Given the description of an element on the screen output the (x, y) to click on. 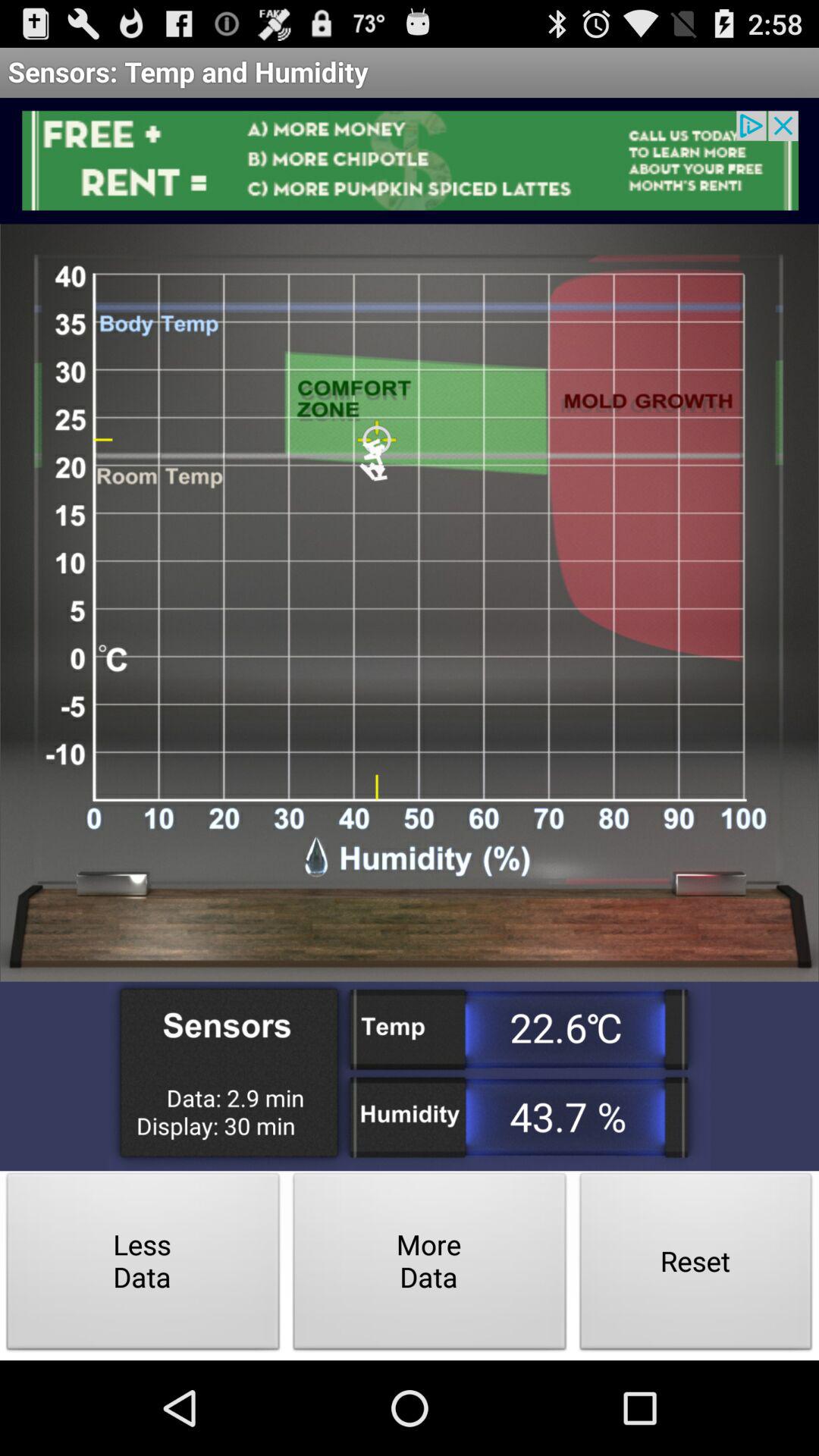
flip to the reset button (696, 1265)
